Given the description of an element on the screen output the (x, y) to click on. 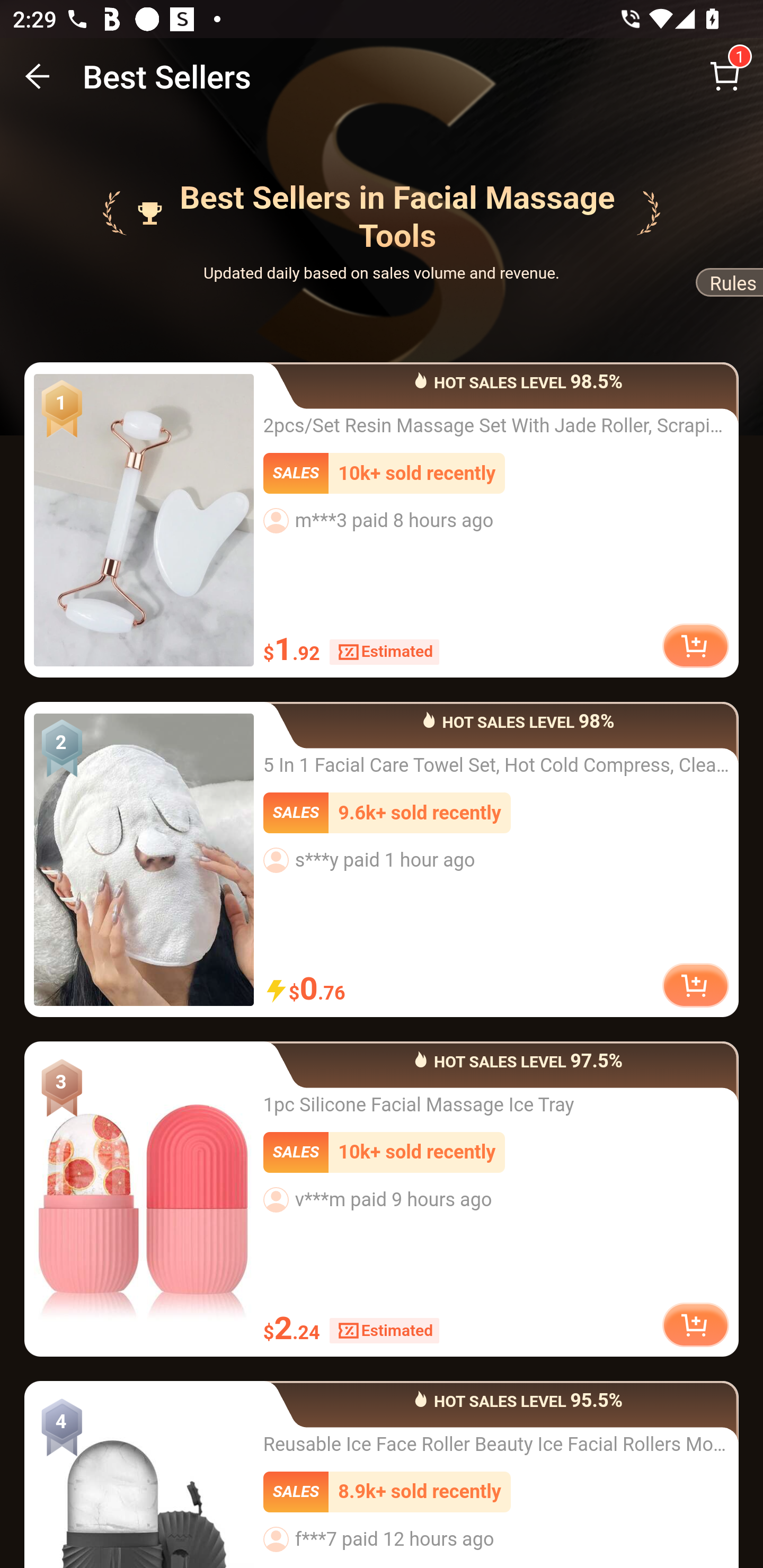
BACK (38, 75)
Cart 1 (724, 75)
Rules (727, 286)
add to cart (695, 645)
add to cart (695, 984)
1pc Silicone Facial Massage Ice Tray (143, 1198)
add to cart (695, 1323)
